Given the description of an element on the screen output the (x, y) to click on. 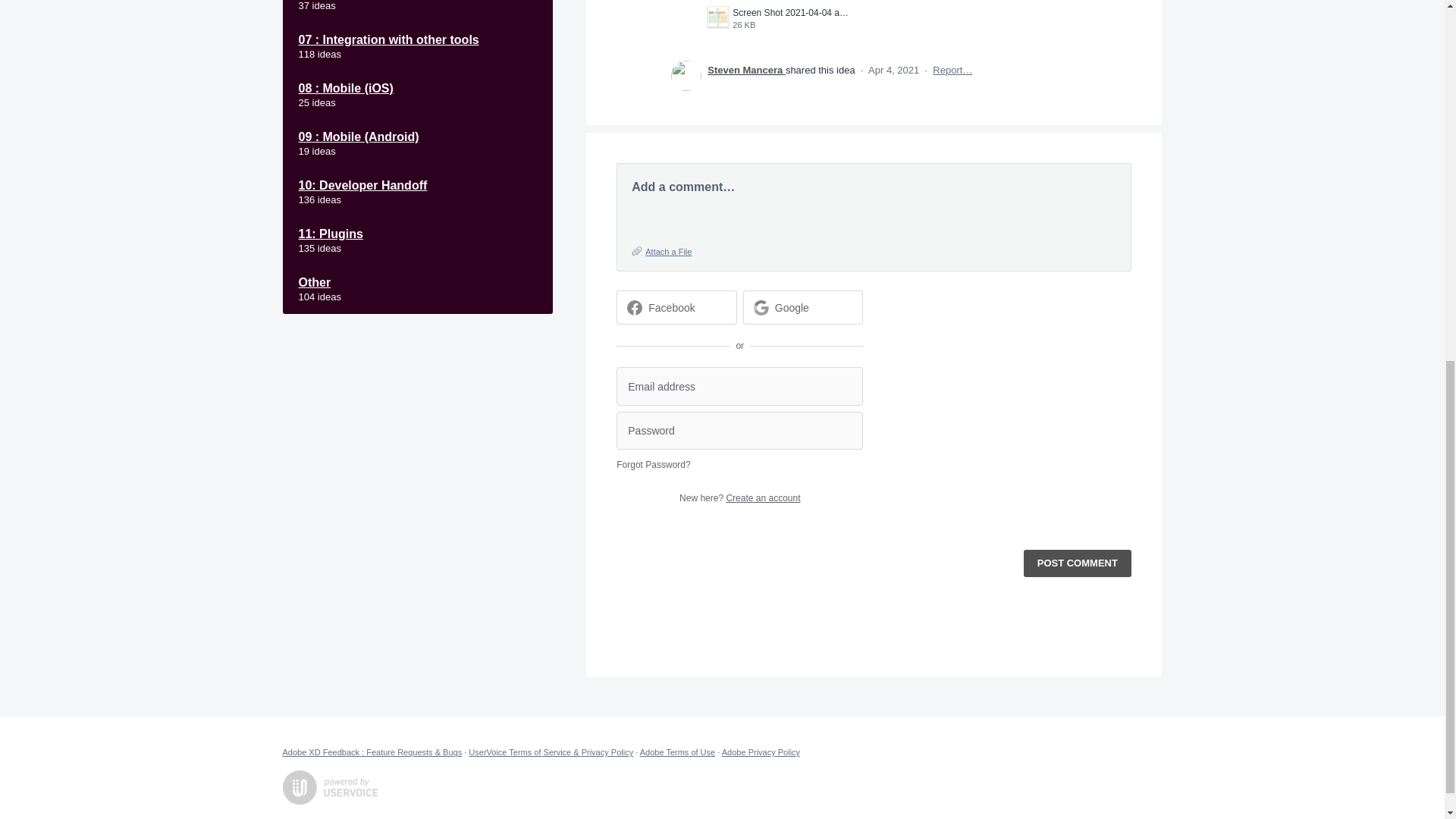
View all ideas in category 07 : Integration with other tools (417, 46)
View all ideas in category 10: Developer Handoff (417, 192)
11: Plugins (417, 241)
View all ideas in category Other (417, 289)
View all ideas in category 06 : Extensibility (417, 11)
07 : Integration with other tools (417, 46)
View all ideas in category 11: Plugins (417, 241)
10: Developer Handoff (417, 192)
Other (417, 289)
06 : Extensibility (417, 11)
